Given the description of an element on the screen output the (x, y) to click on. 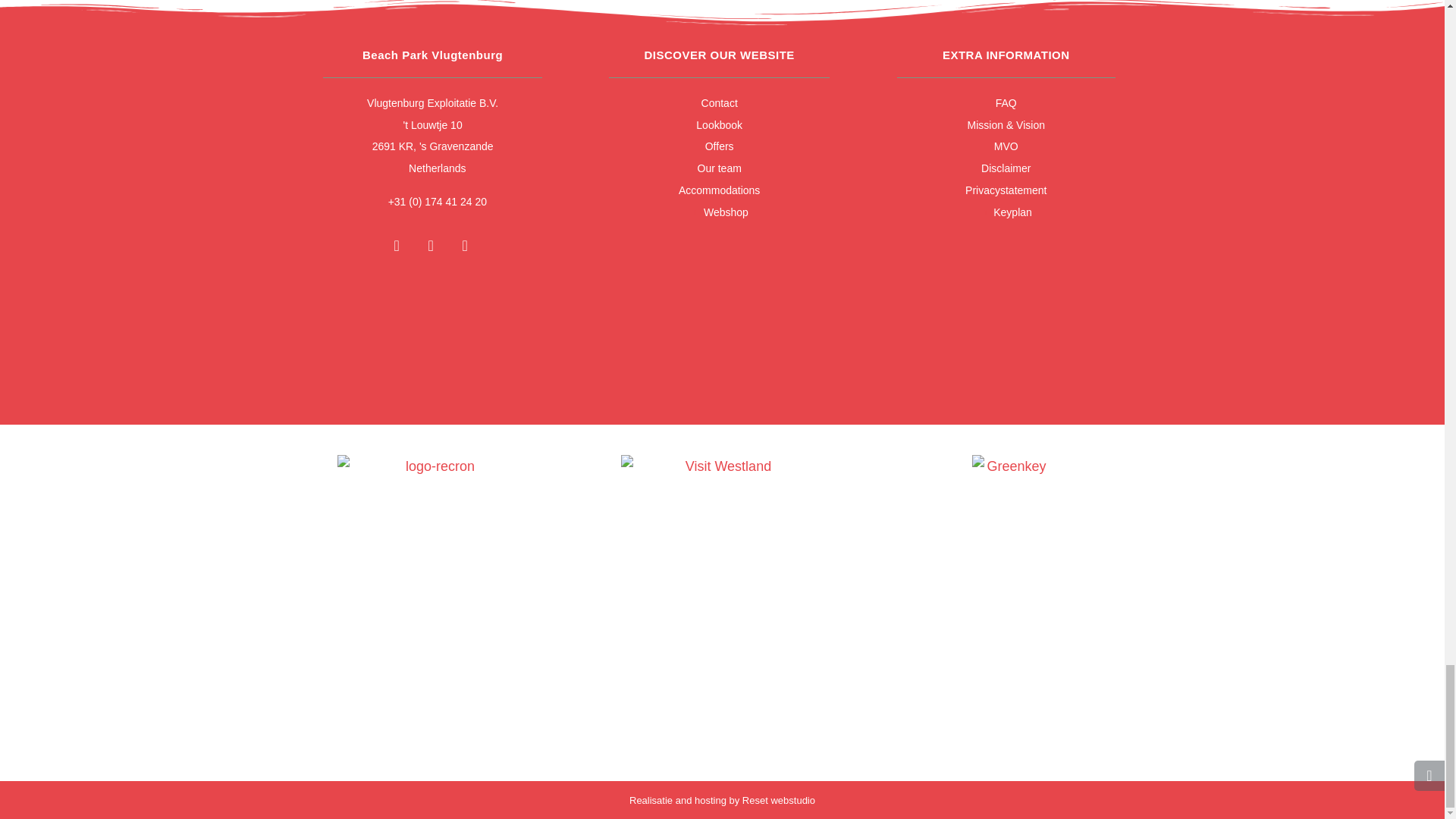
Greenkey (1010, 492)
logo-recron (433, 492)
Visit Westland (721, 477)
